Given the description of an element on the screen output the (x, y) to click on. 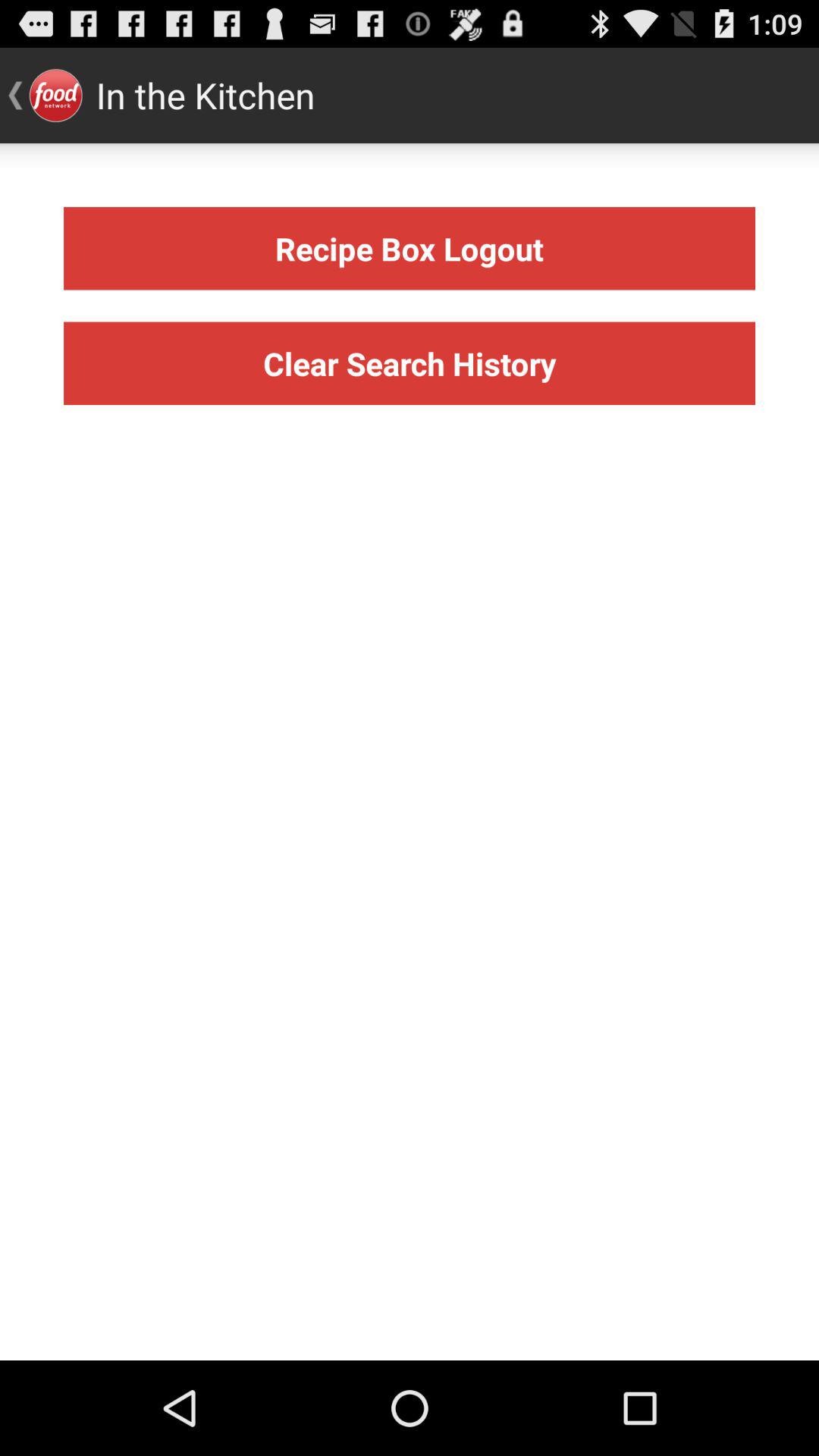
scroll until the recipe box logout (409, 248)
